Given the description of an element on the screen output the (x, y) to click on. 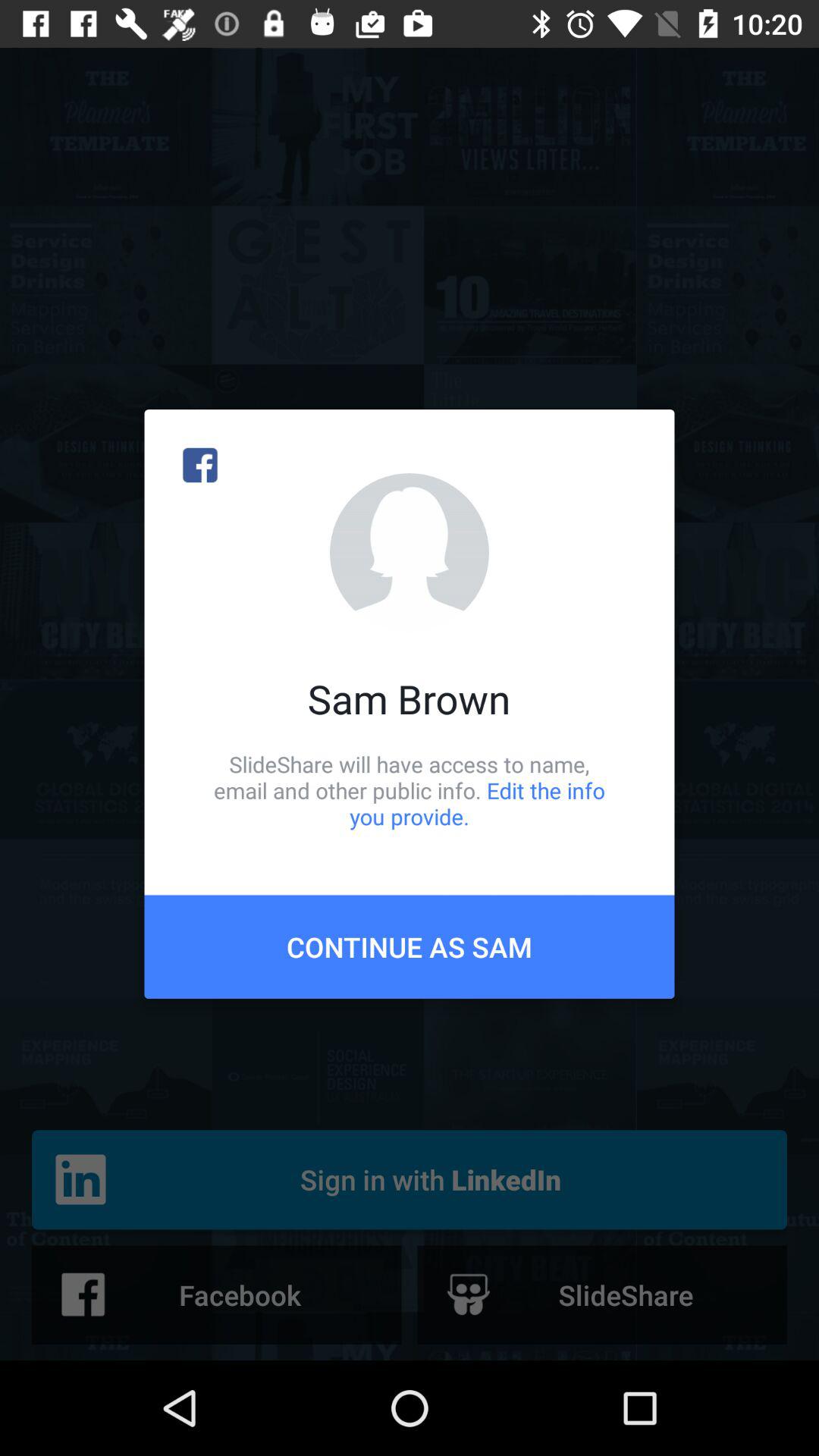
scroll to slideshare will have item (409, 790)
